Given the description of an element on the screen output the (x, y) to click on. 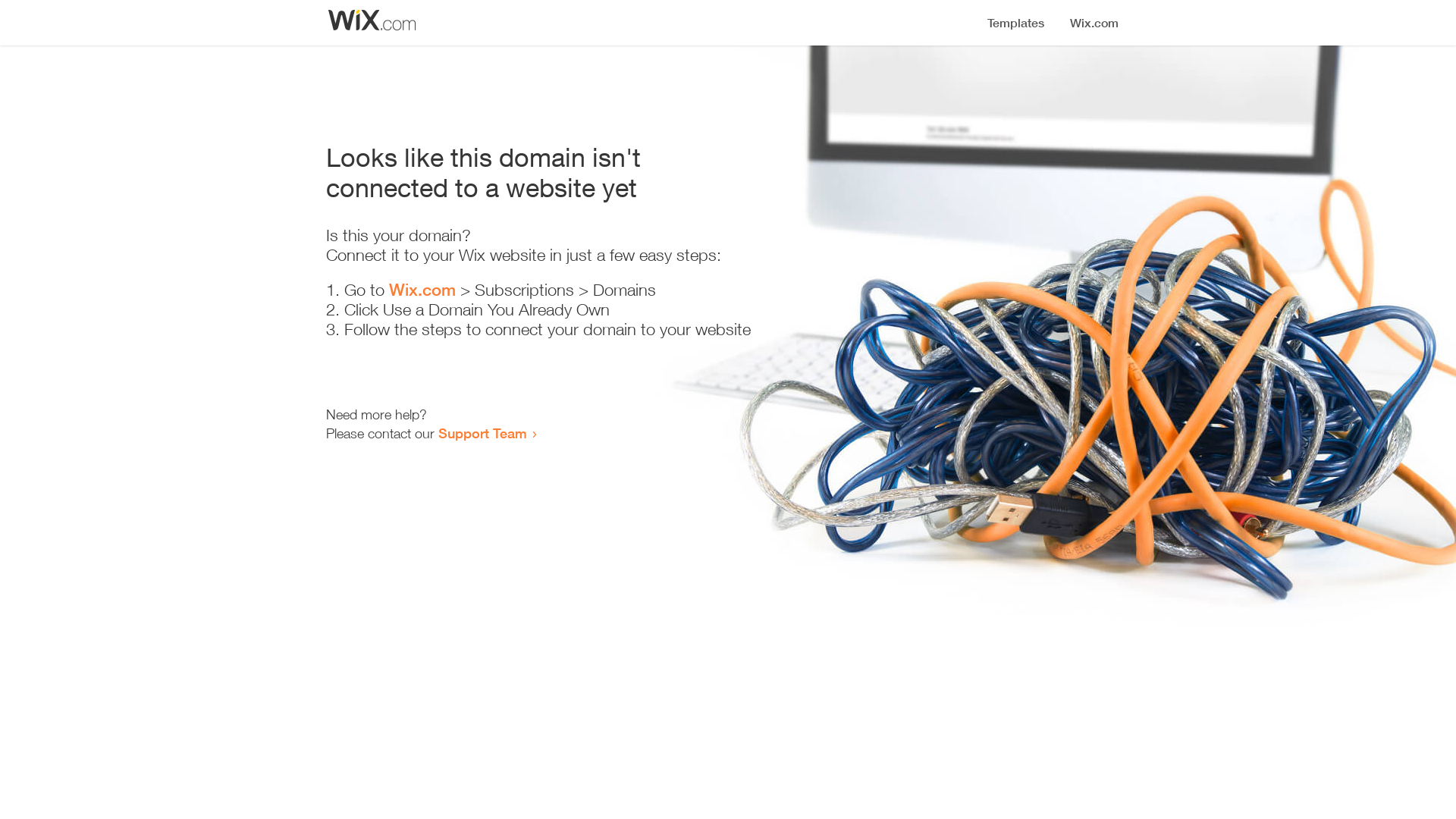
Wix.com Element type: text (422, 289)
Support Team Element type: text (482, 432)
